Given the description of an element on the screen output the (x, y) to click on. 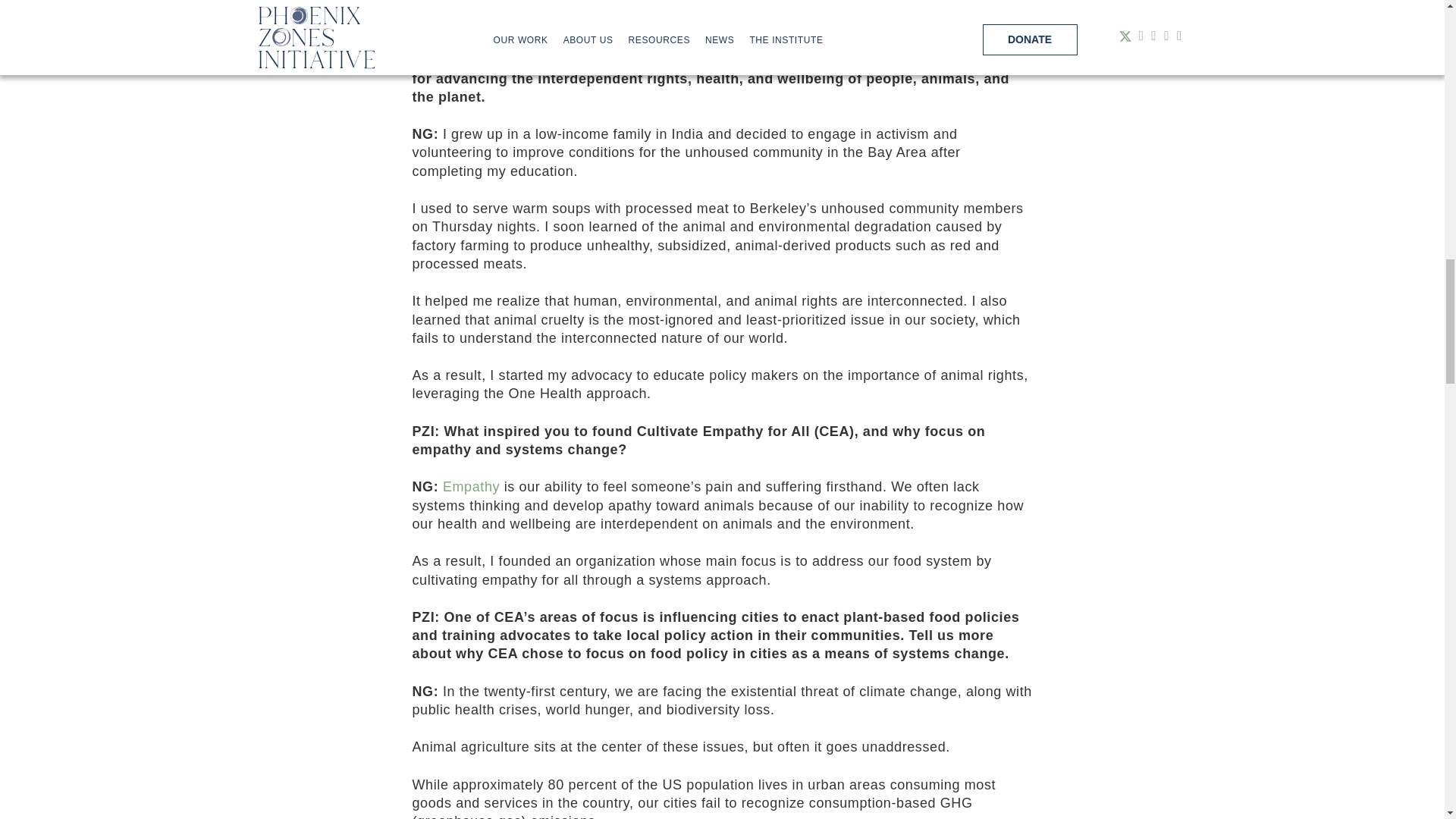
Empathy (470, 486)
